Given the description of an element on the screen output the (x, y) to click on. 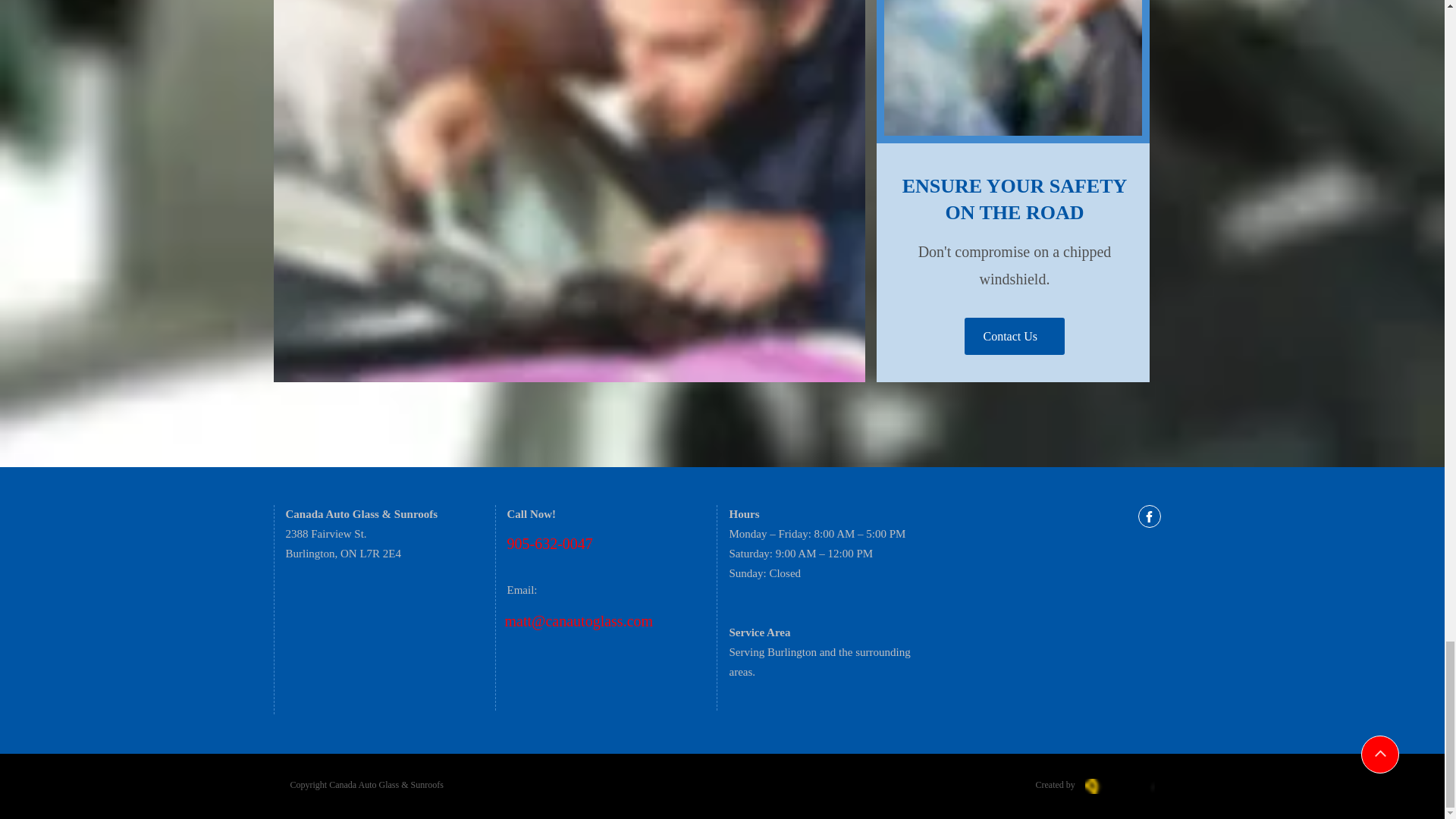
905-632-0047 (549, 543)
Embedded Content (1112, 558)
Contact Us (1013, 335)
